Given the description of an element on the screen output the (x, y) to click on. 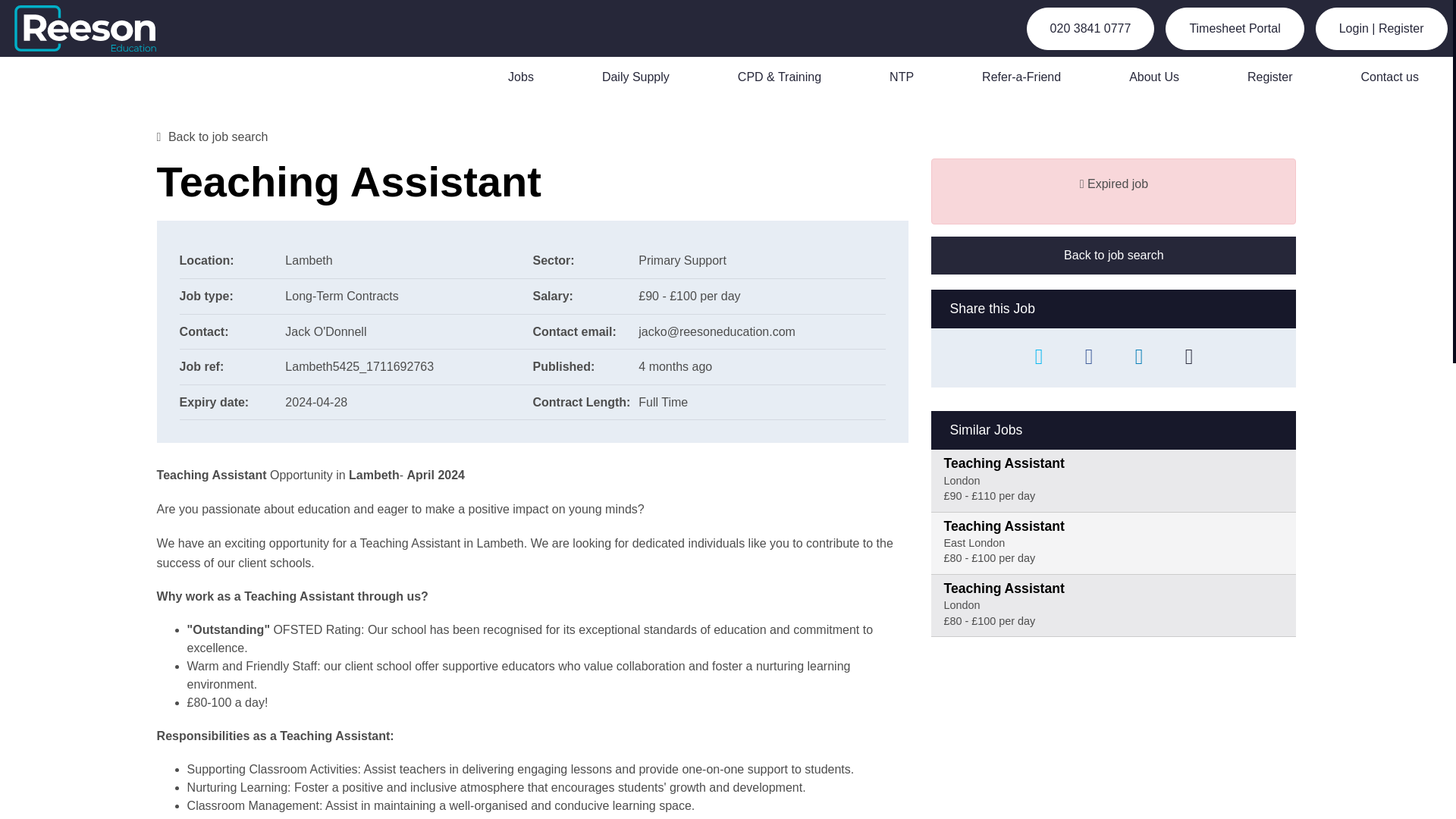
Email (1189, 357)
Facebook (1088, 357)
Twitter (1039, 357)
Go to the Homepage (94, 28)
Jobs (520, 76)
Refer-a-Friend (1021, 76)
Primary Support (682, 259)
Timesheet Portal (1234, 28)
Back to job search (212, 136)
NTP (901, 76)
LinkedIn (1138, 357)
About Us (1154, 76)
Daily Supply (636, 76)
Register (1270, 76)
020 3841 0777 (1090, 28)
